Given the description of an element on the screen output the (x, y) to click on. 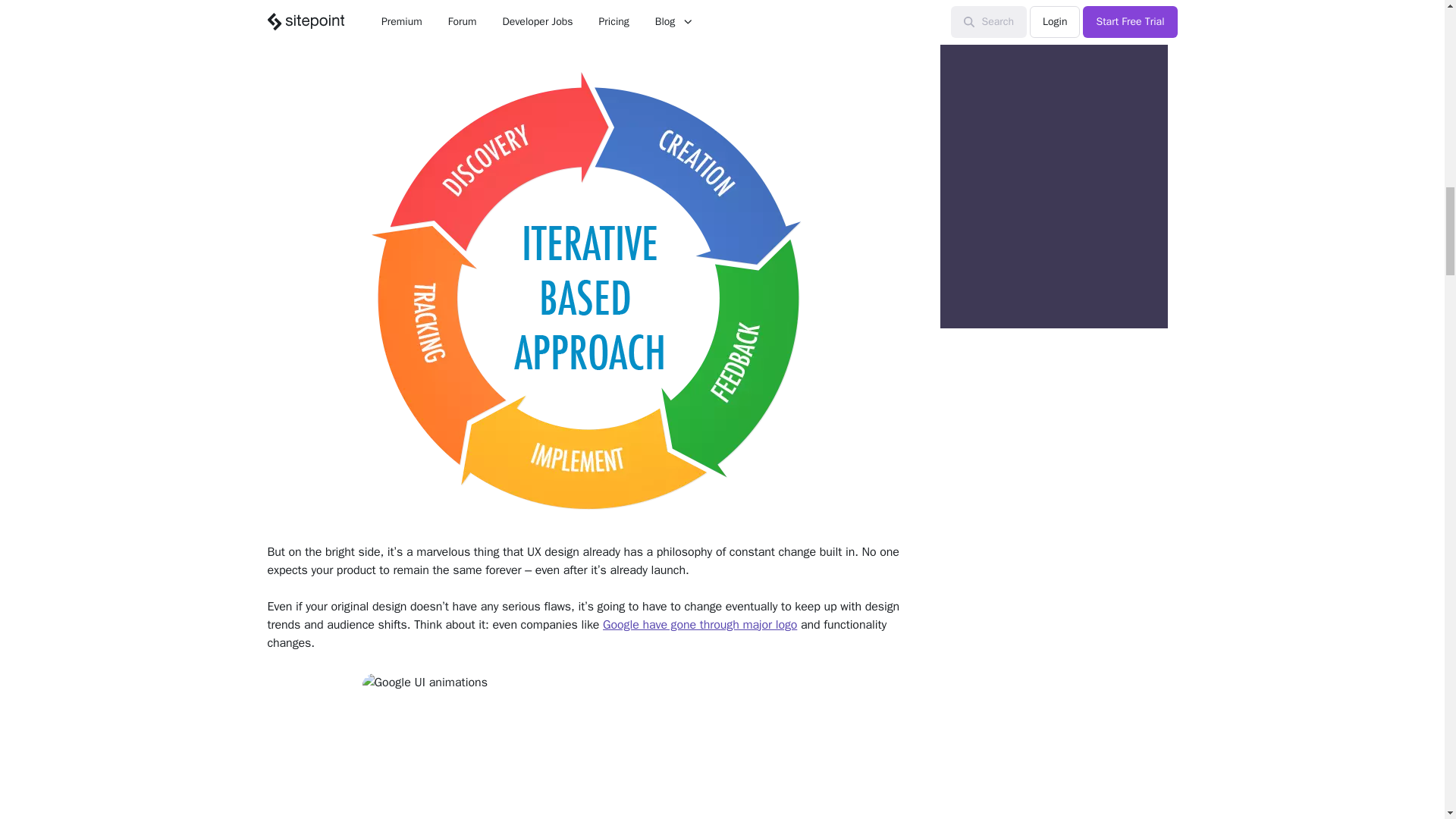
Google have gone through major logo (699, 624)
